Given the description of an element on the screen output the (x, y) to click on. 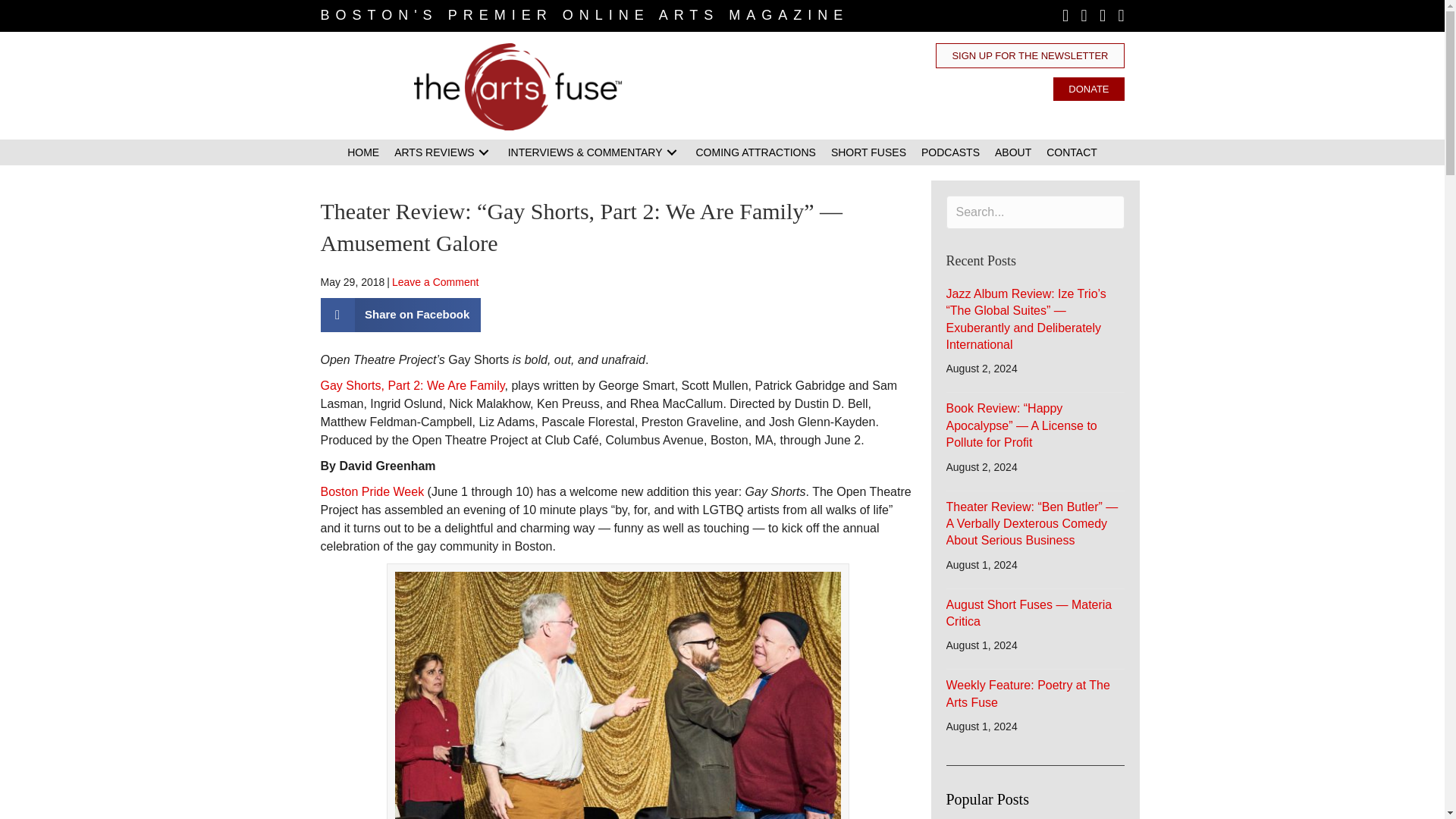
Leave a Comment (435, 282)
SHORT FUSES (869, 152)
DONATE (1088, 88)
CONTACT (1072, 152)
PODCASTS (950, 152)
HOME (363, 152)
Gay Shorts, Part 2: We Are Family (411, 385)
The Arts Fuse logo (518, 86)
SIGN UP FOR THE NEWSLETTER (1030, 55)
